Given the description of an element on the screen output the (x, y) to click on. 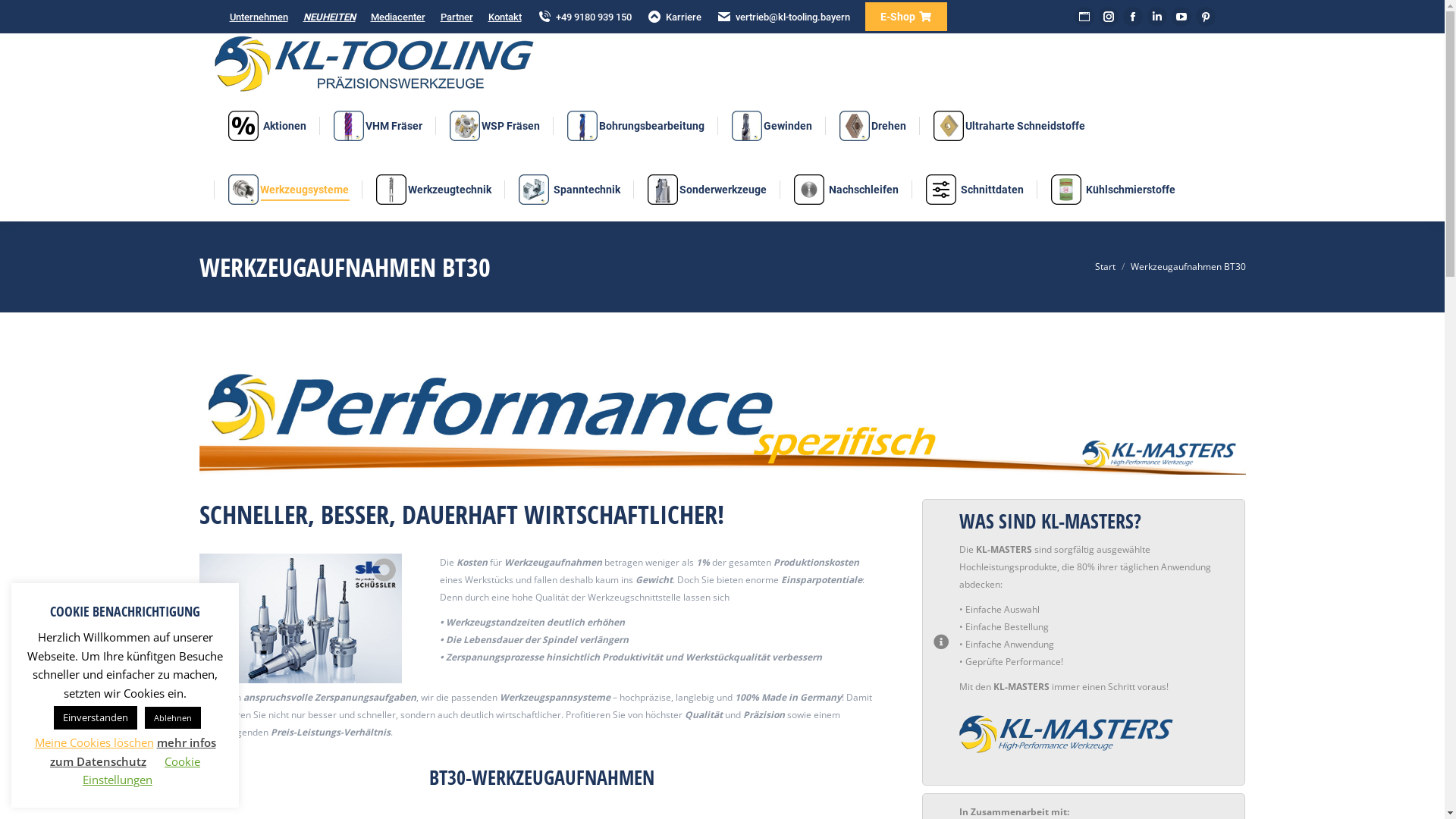
Gewinden Element type: text (771, 125)
Kontakt Element type: text (504, 15)
Sonderwerkzeuge Element type: text (706, 189)
Drehen Element type: text (871, 125)
Pinterest page opens in new window Element type: text (1204, 16)
E-Shop Element type: text (905, 16)
Partner Element type: text (455, 15)
Unternehmen Element type: text (258, 15)
Schnittdaten Element type: text (974, 189)
Einverstanden Element type: text (94, 717)
KLTOOLING_Masters_2020new Element type: hover (721, 419)
Ablehnen Element type: text (172, 717)
Mediacenter Element type: text (397, 15)
Karriere Element type: text (673, 16)
Start Element type: text (1105, 266)
Facebook page opens in new window Element type: text (1132, 16)
Aktionen Element type: text (266, 125)
Website page opens in new window Element type: text (1083, 16)
Cookie Einstellungen Element type: text (141, 770)
Bohrungsbearbeitung Element type: text (635, 125)
Spanntechnik Element type: text (569, 189)
NEUHEITEN Element type: text (329, 15)
mehr infos zum Datenschutz Element type: text (133, 751)
Ultraharte Schneidstoffe Element type: text (1008, 125)
Instagram page opens in new window Element type: text (1107, 16)
Werkzeugtechnik Element type: text (433, 189)
YouTube page opens in new window Element type: text (1180, 16)
Nachschleifen Element type: text (845, 189)
Werkzeugsysteme Element type: text (287, 189)
Linkedin page opens in new window Element type: text (1156, 16)
